Given the description of an element on the screen output the (x, y) to click on. 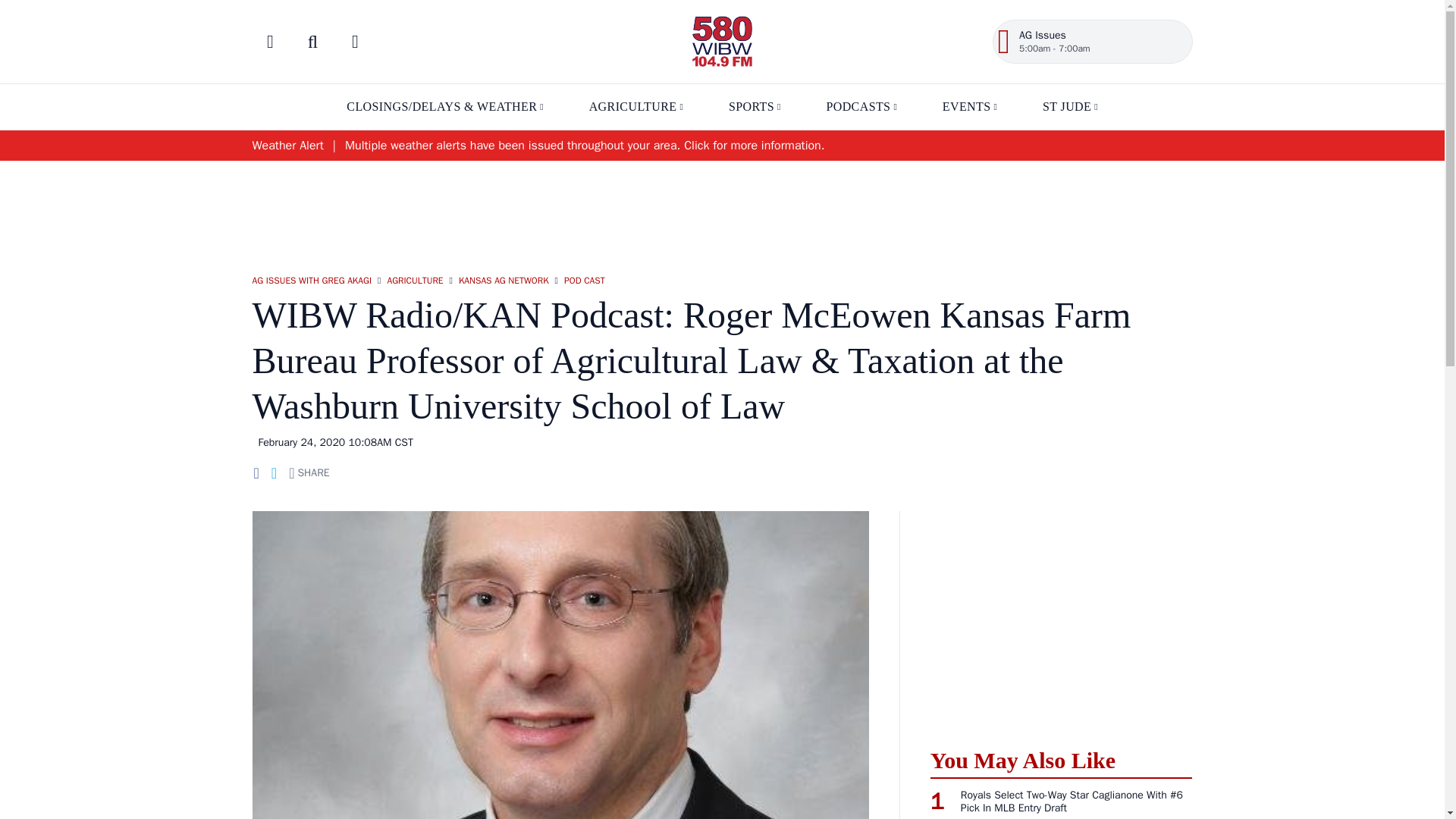
3rd party ad content (1060, 620)
3rd party ad content (721, 210)
